Given the description of an element on the screen output the (x, y) to click on. 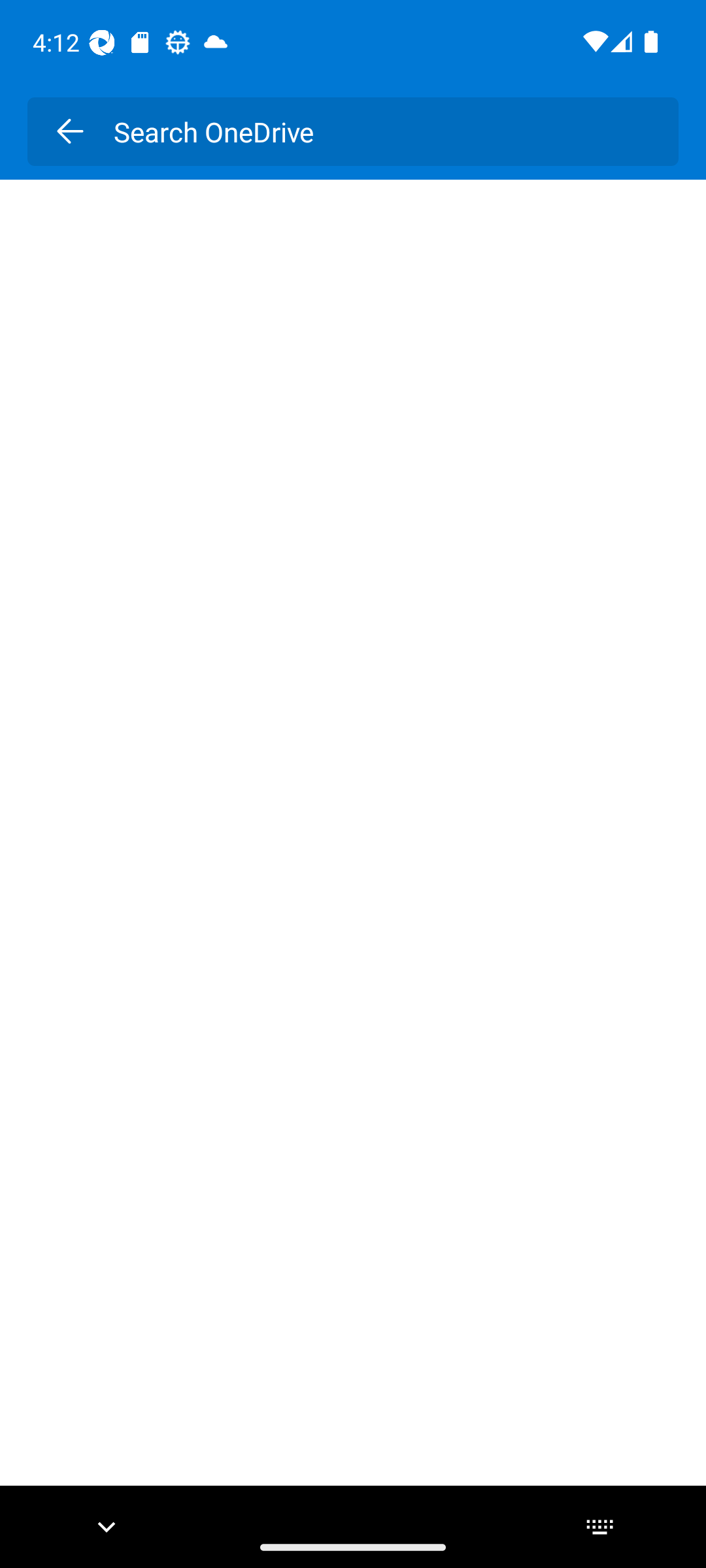
Navigate Up (69, 131)
Search OneDrive (382, 131)
